Given the description of an element on the screen output the (x, y) to click on. 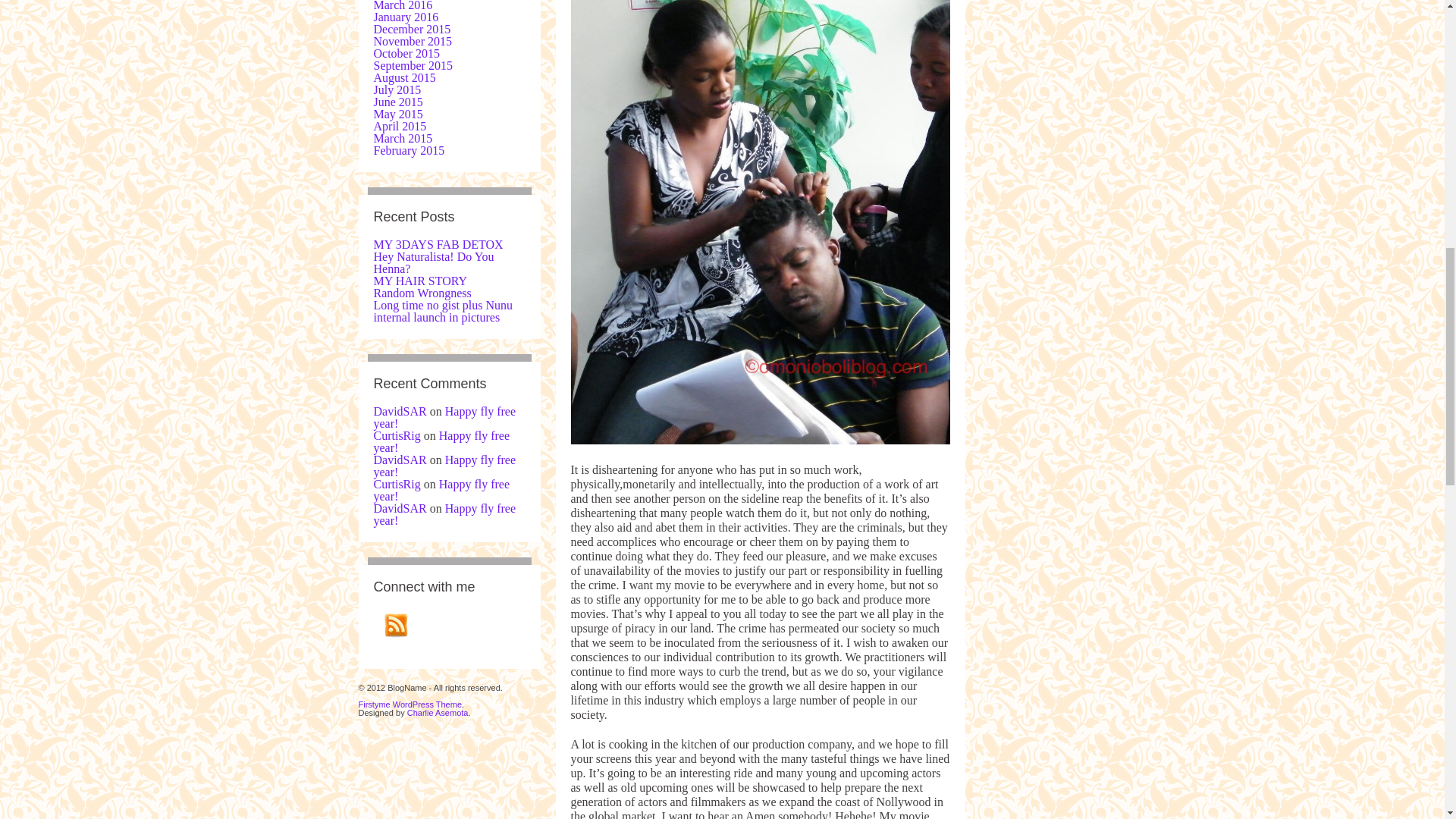
December 2015 (410, 29)
Hey Naturalista! Do You Henna? (432, 262)
Happy fly free year! (440, 441)
DavidSAR (399, 410)
April 2015 (399, 125)
March 2015 (402, 137)
Random Wrongness (421, 292)
DavidSAR (399, 459)
September 2015 (411, 65)
DavidSAR (399, 508)
